Given the description of an element on the screen output the (x, y) to click on. 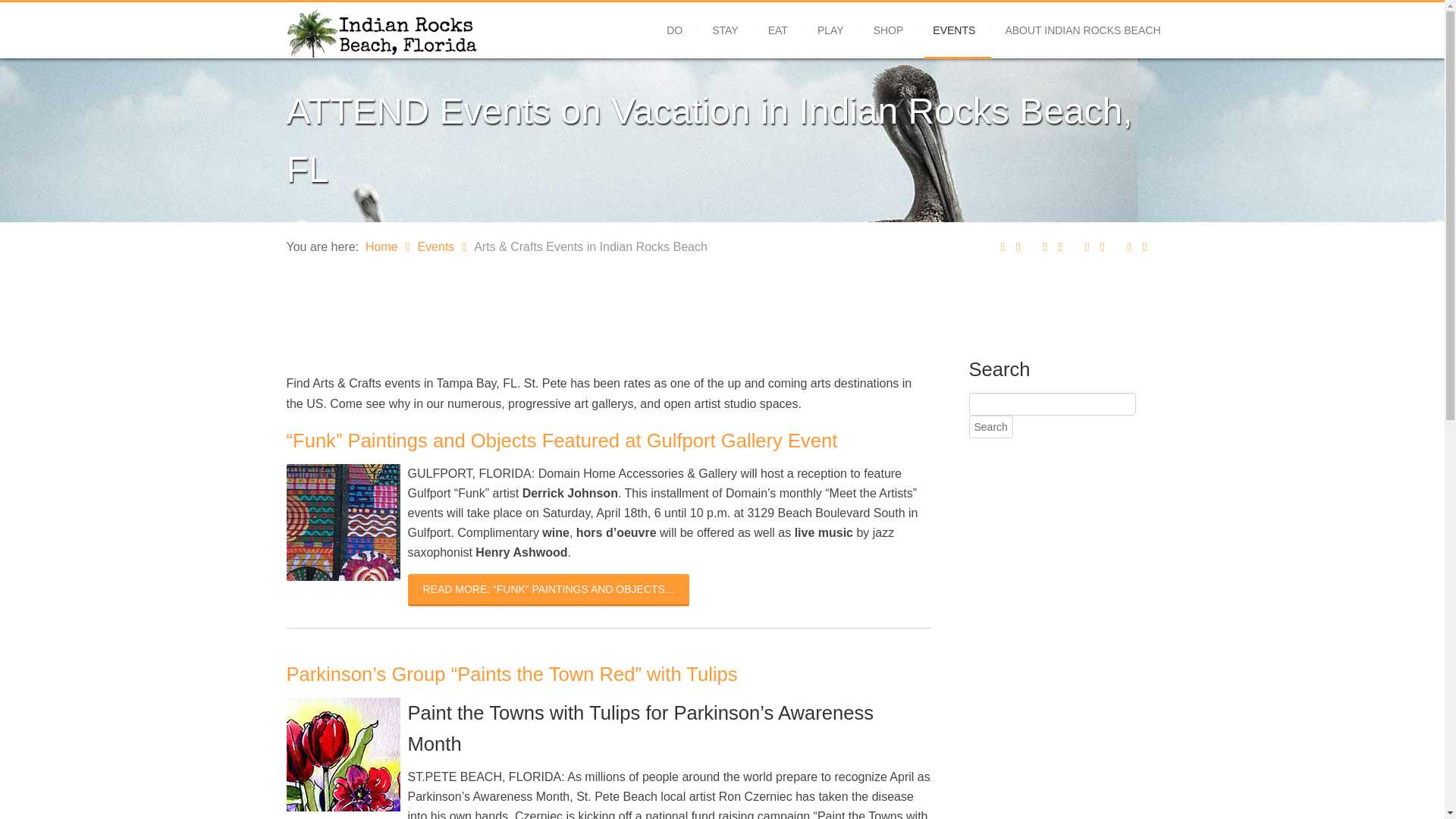
Search (991, 426)
Search (991, 426)
Home (391, 246)
SHOP (888, 29)
Advertisement (542, 305)
DO (673, 29)
Events (445, 246)
EVENTS (953, 29)
STAY (725, 29)
ABOUT INDIAN ROCKS BEACH (1082, 29)
